Given the description of an element on the screen output the (x, y) to click on. 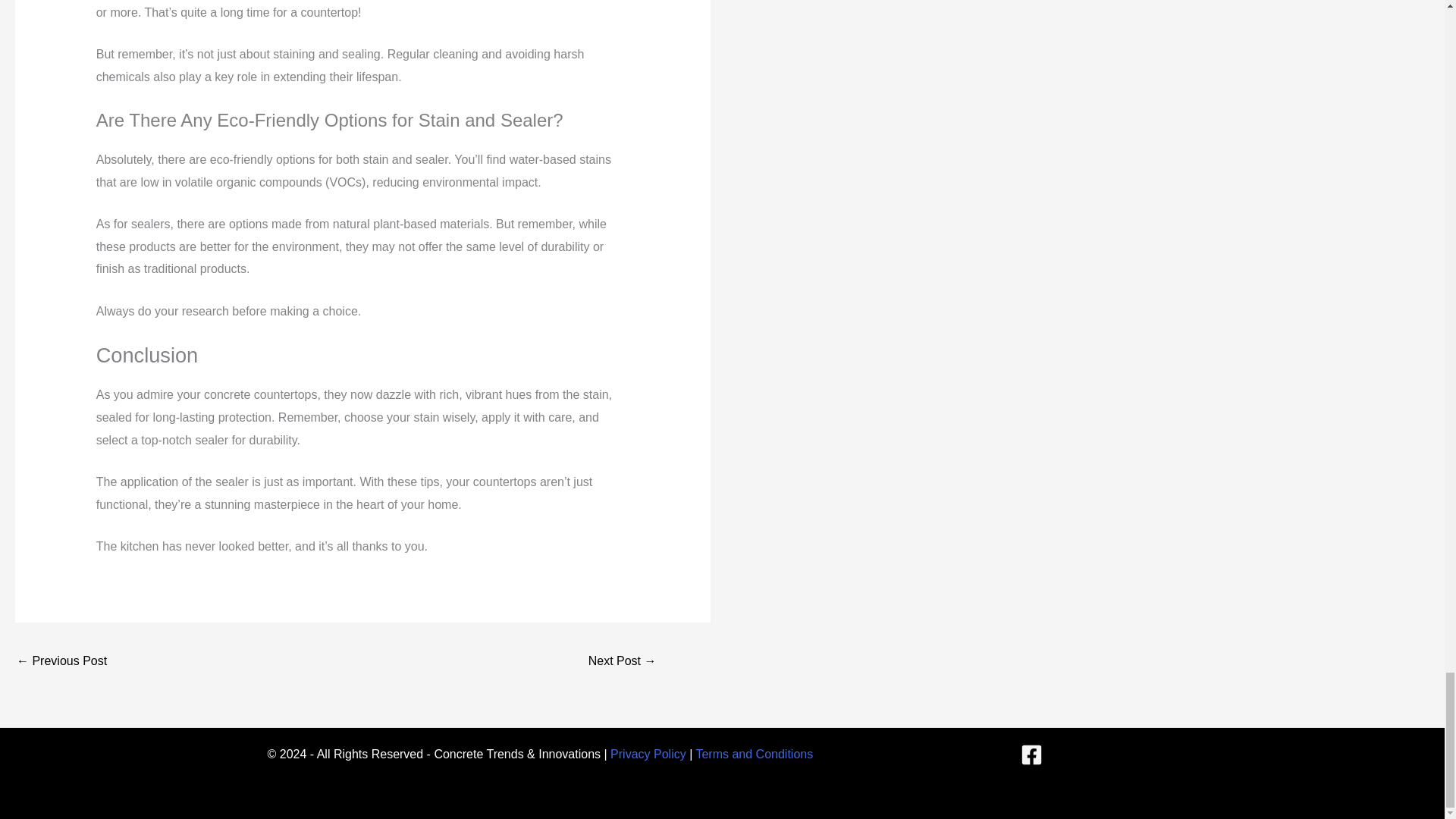
Tips for Designing and Installing Concrete Pool Decks (622, 662)
Transforming Your Home With Residential Concrete Services (61, 662)
